Given the description of an element on the screen output the (x, y) to click on. 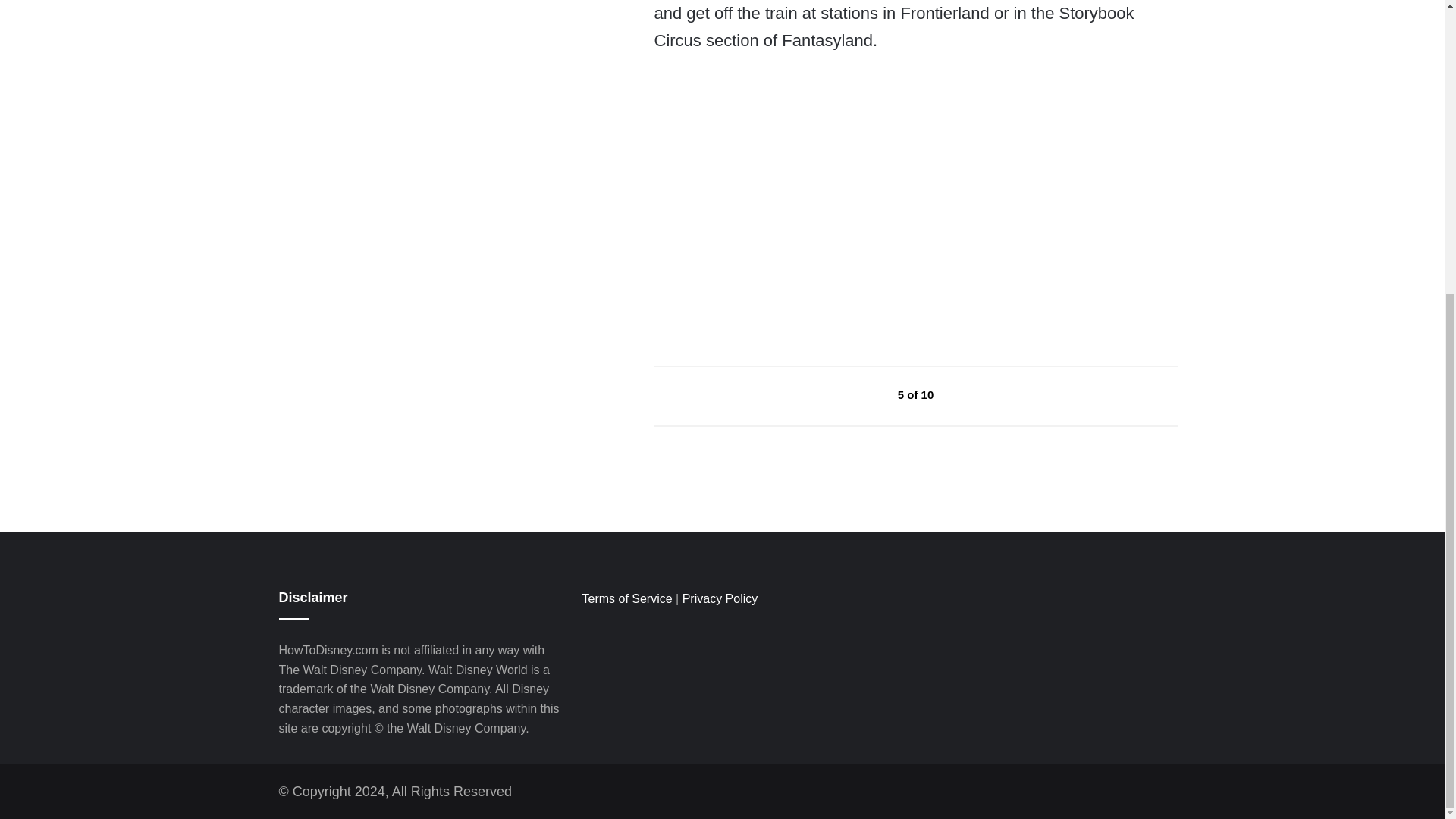
Terms of Service (625, 598)
Privacy Policy (720, 598)
Left (863, 394)
right (969, 394)
